Given the description of an element on the screen output the (x, y) to click on. 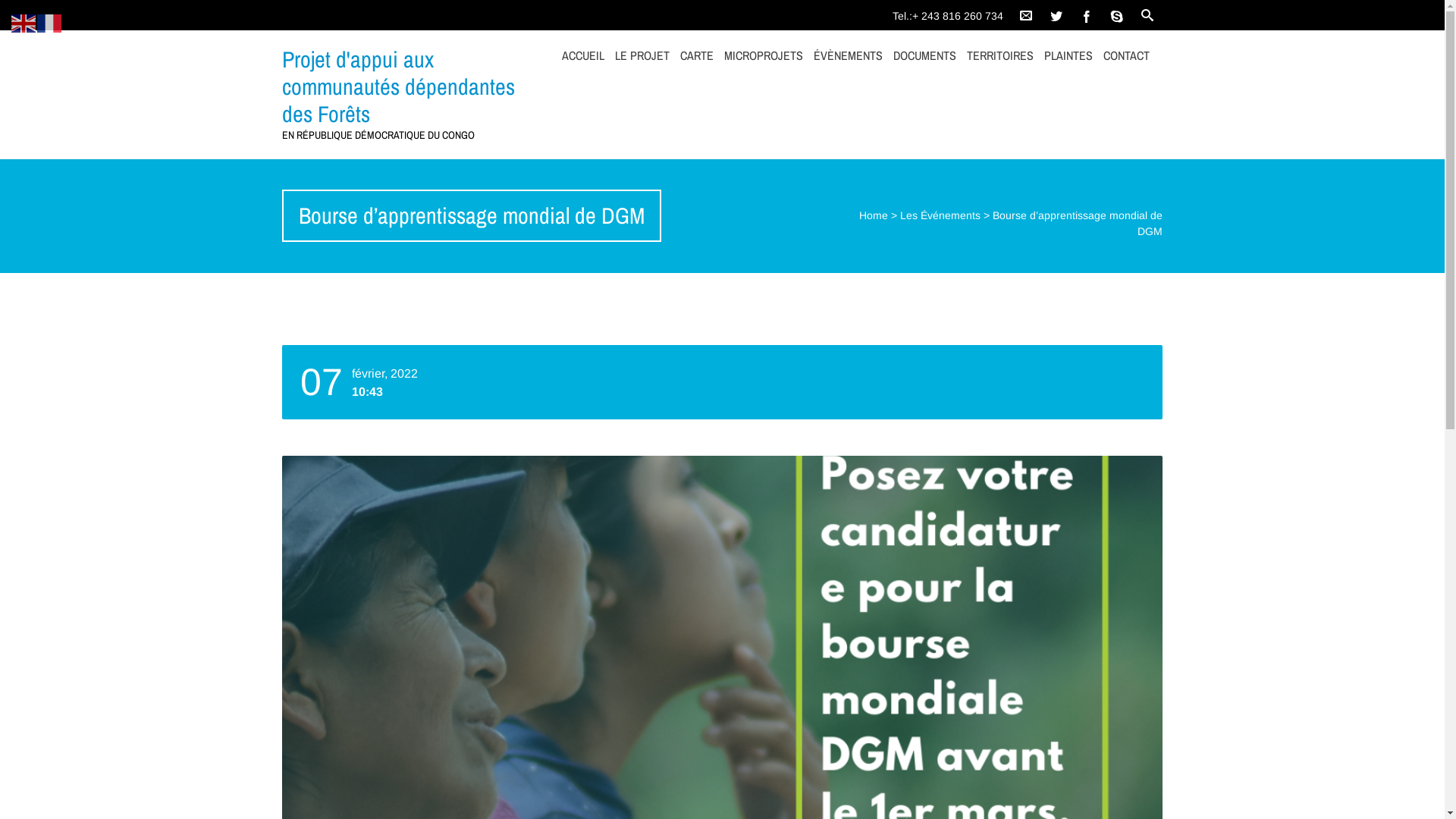
Search Element type: hover (1147, 15)
Home Element type: text (873, 215)
Contact Element type: hover (1025, 15)
TERRITOIRES Element type: text (1000, 55)
DOCUMENTS Element type: text (924, 55)
Twitter Element type: hover (1056, 15)
Tel.:+ 243 816 260 734 Element type: text (951, 12)
French Element type: hover (49, 22)
Facebook Element type: hover (1086, 15)
CONTACT Element type: text (1126, 55)
Skype Element type: hover (1116, 15)
LE PROJET Element type: text (642, 55)
CARTE Element type: text (696, 55)
PLAINTES Element type: text (1068, 55)
MICROPROJETS Element type: text (763, 55)
Search Element type: text (20, 10)
ACCUEIL Element type: text (583, 55)
English Element type: hover (24, 22)
